Given the description of an element on the screen output the (x, y) to click on. 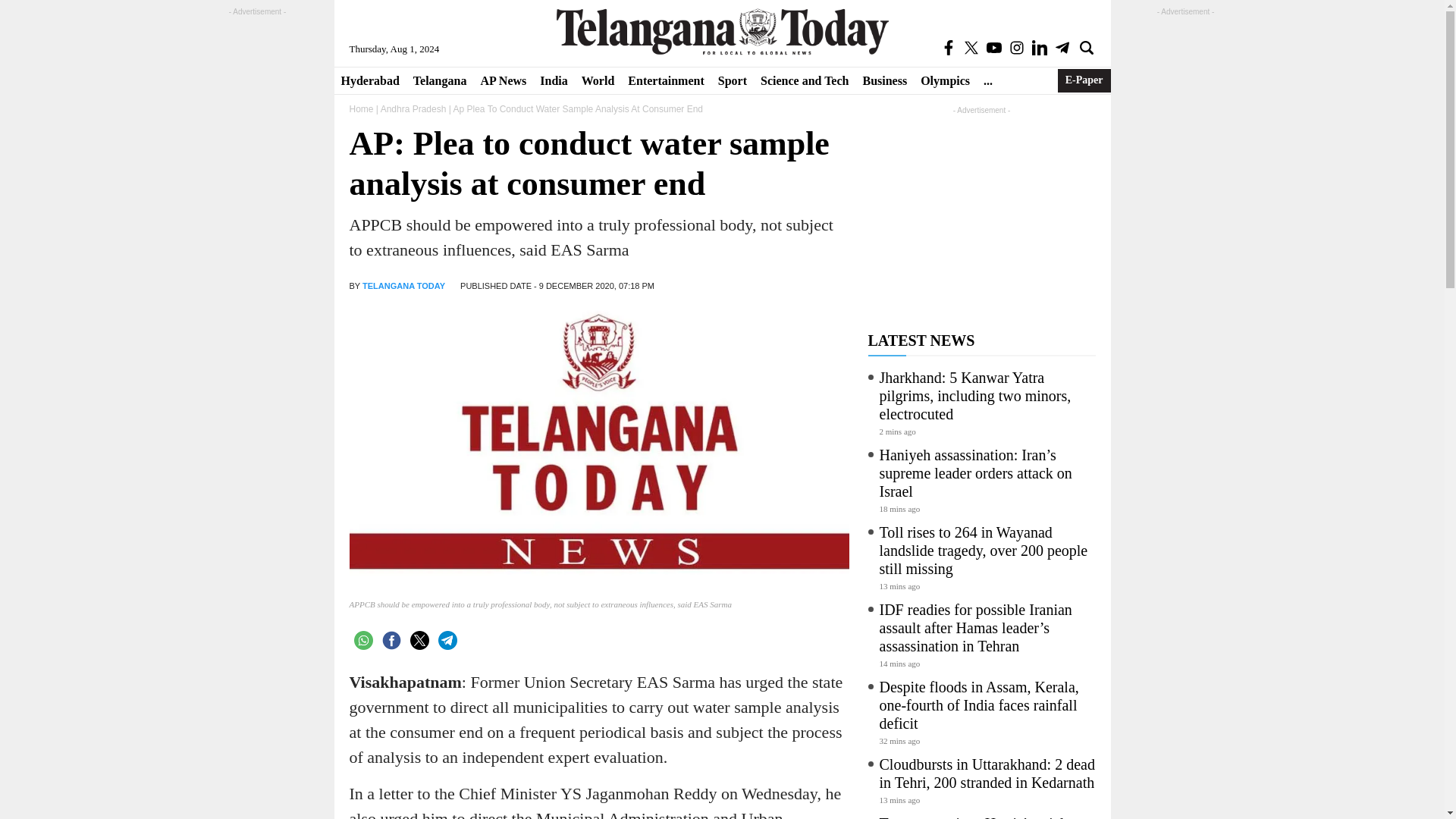
Telangana (440, 80)
... (987, 80)
TELANGANA TODAY (403, 285)
World (598, 80)
AP News (502, 80)
... (987, 80)
Home (360, 109)
Entertainment (665, 80)
Science and Tech (805, 80)
World (598, 80)
India (552, 80)
English News (722, 31)
Andhra Pradesh (413, 109)
Science and Tech (805, 80)
Olympics (945, 80)
